Given the description of an element on the screen output the (x, y) to click on. 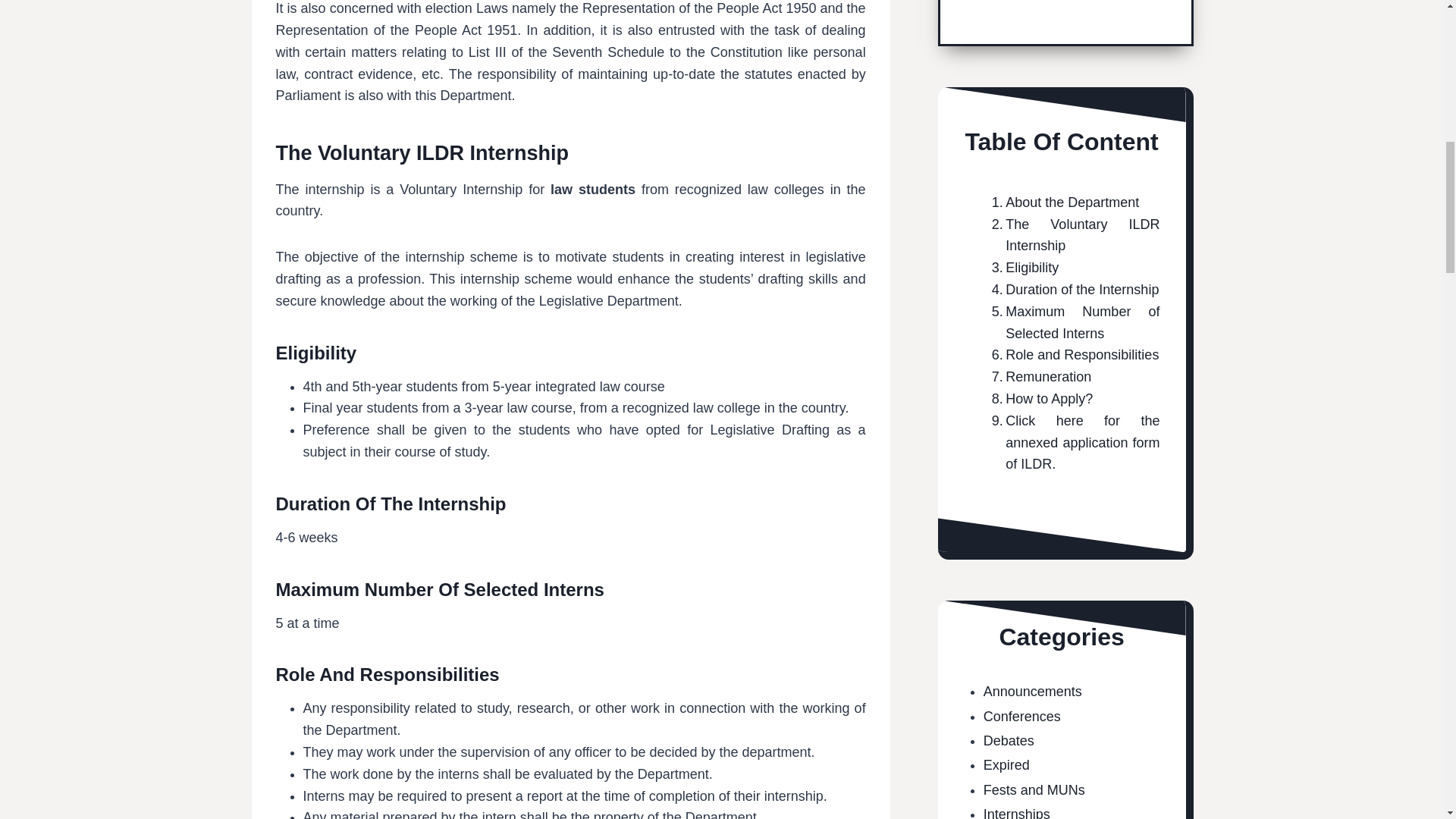
About the Department (1062, 202)
Eligibility (1021, 268)
The Voluntary ILDR Internship (1072, 235)
